Given the description of an element on the screen output the (x, y) to click on. 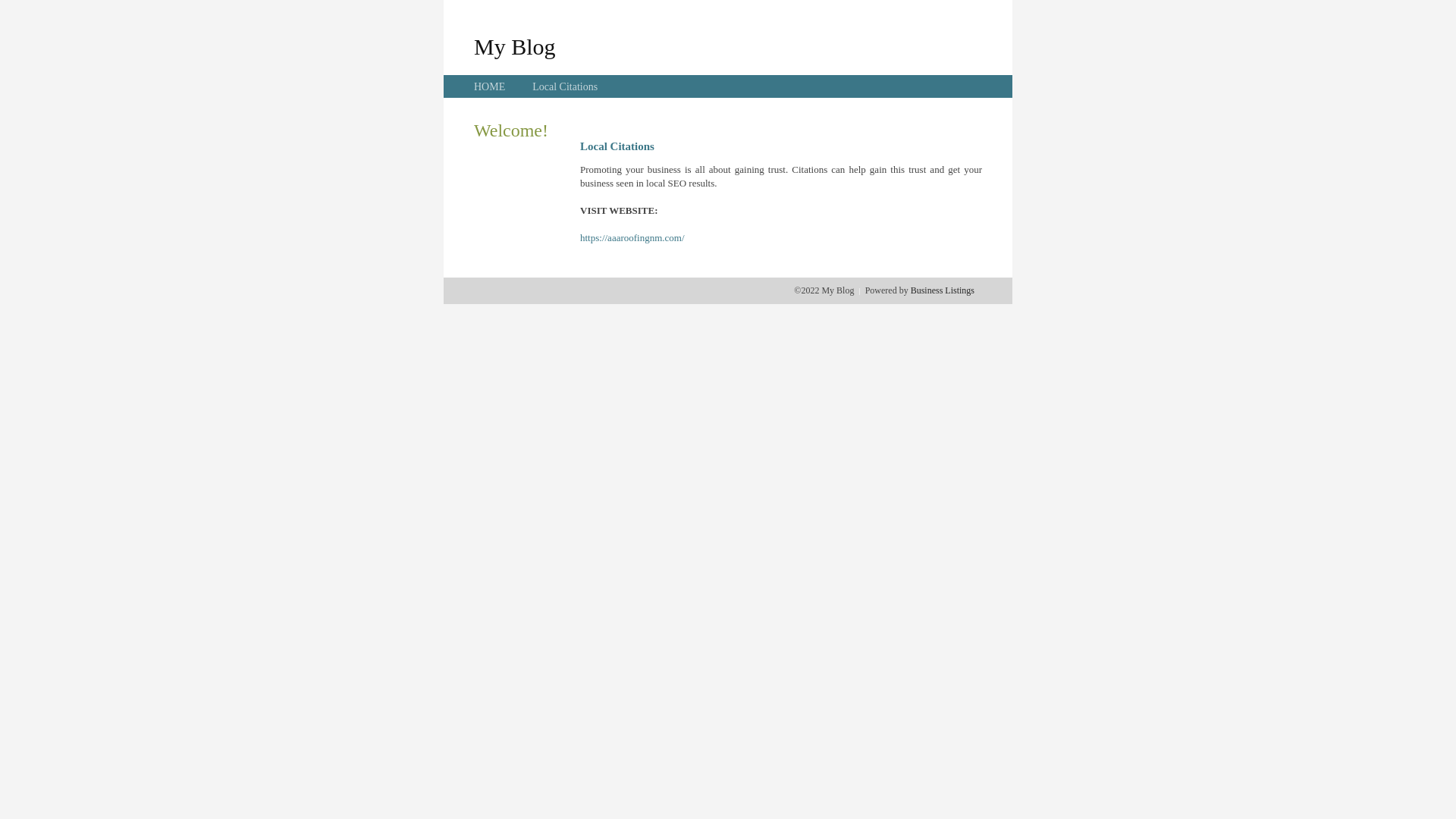
Business Listings Element type: text (942, 290)
Local Citations Element type: text (564, 86)
HOME Element type: text (489, 86)
https://aaaroofingnm.com/ Element type: text (632, 237)
My Blog Element type: text (514, 46)
